Given the description of an element on the screen output the (x, y) to click on. 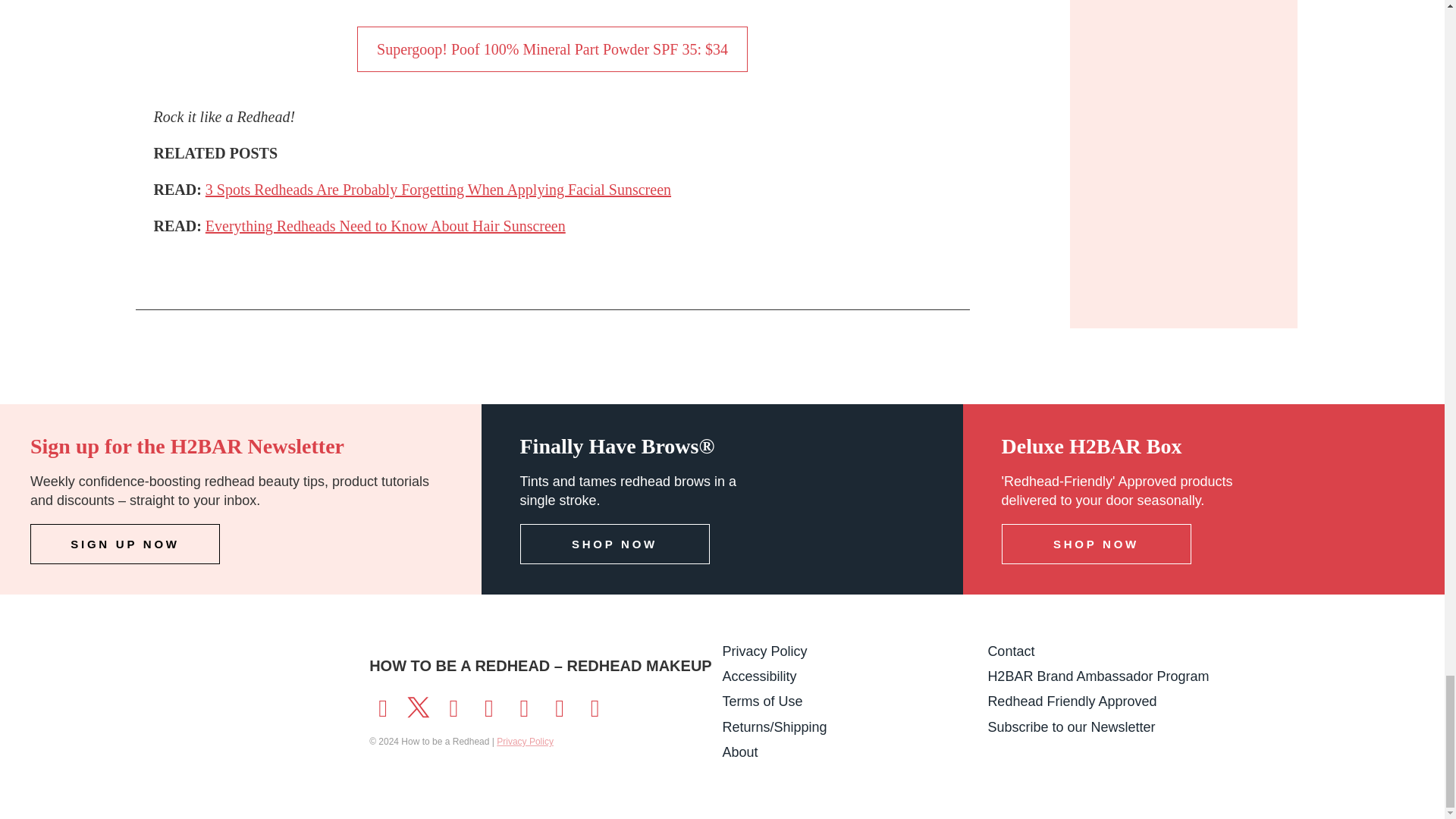
Twitter in a new window (418, 705)
Facebook in a new window (382, 705)
Youtube in a new window (489, 705)
Instagram in a new window (453, 705)
Snapchat in a new window (524, 705)
